Given the description of an element on the screen output the (x, y) to click on. 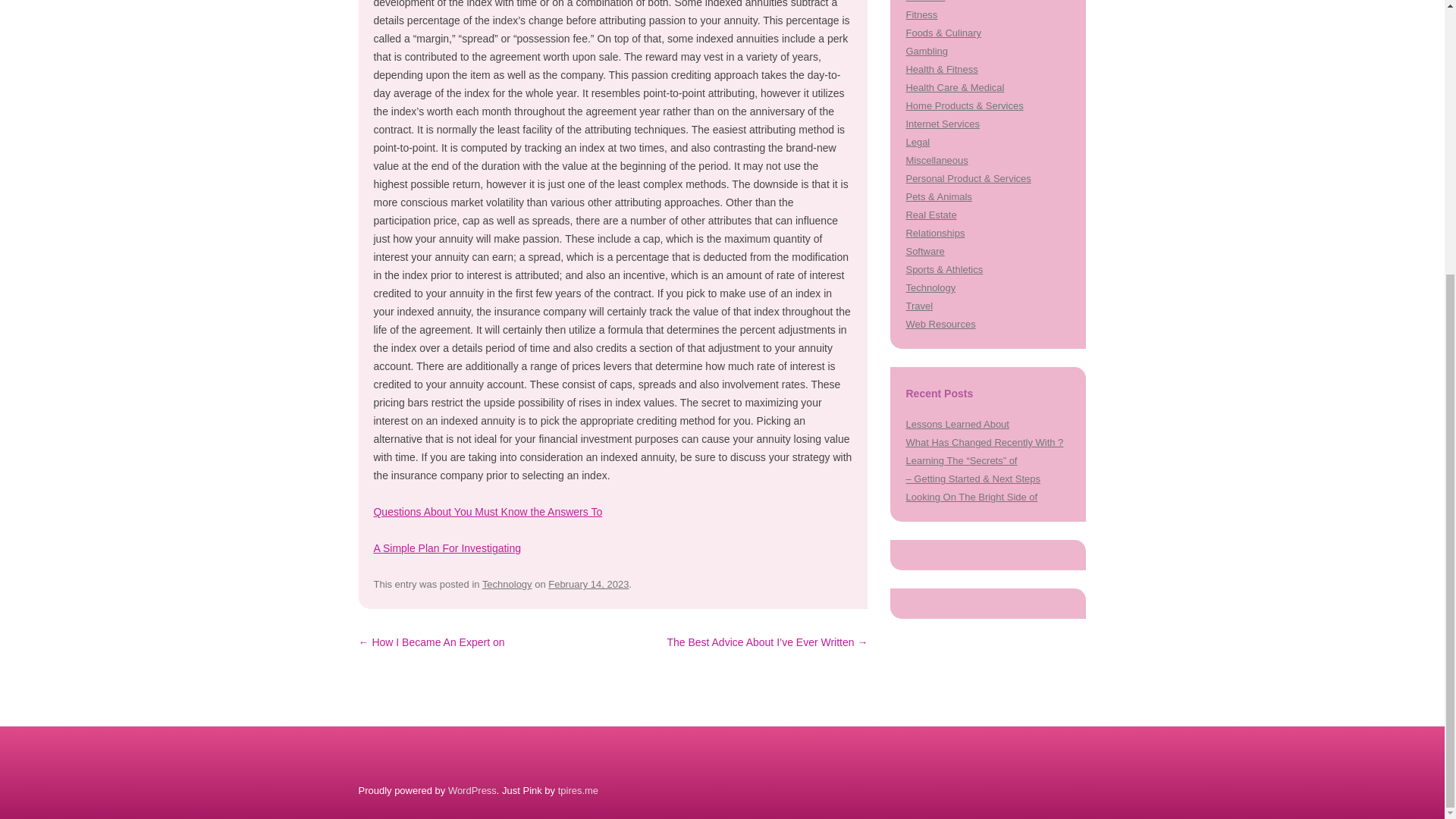
Software (924, 251)
Semantic Personal Publishing Platform (472, 790)
A Simple Plan For Investigating (446, 548)
Financial (924, 1)
February 14, 2023 (588, 583)
Internet Services (941, 123)
Questions About You Must Know the Answers To (487, 511)
Legal (917, 142)
Travel (919, 306)
Fitness (921, 14)
What Has Changed Recently With ? (983, 441)
Technology (506, 583)
Miscellaneous (936, 160)
Relationships (934, 233)
Gambling (926, 50)
